Given the description of an element on the screen output the (x, y) to click on. 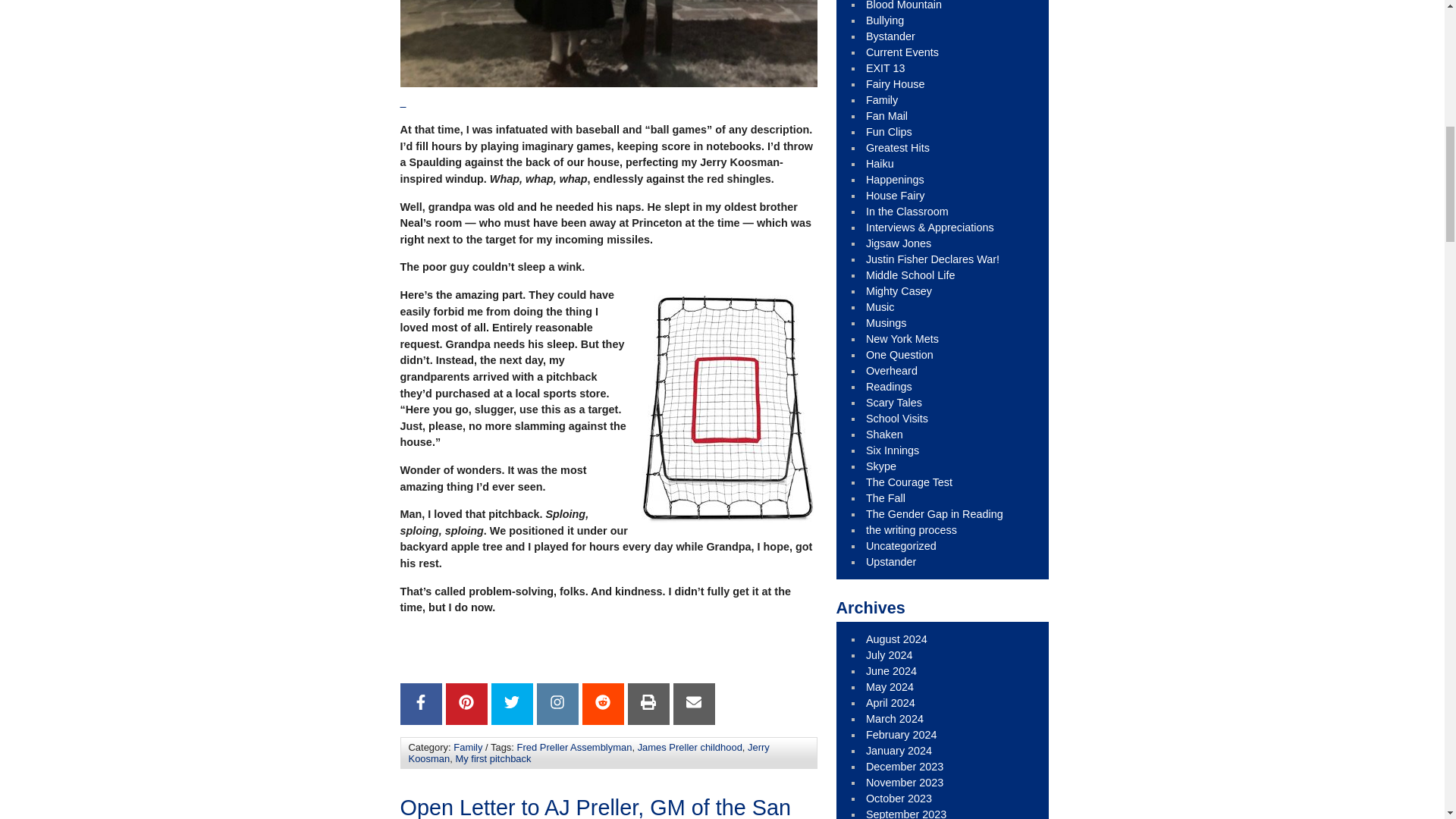
My first pitchback (492, 758)
James Preller childhood (689, 747)
Jerry Koosman (587, 753)
Family (466, 747)
Favorite old posts. (898, 147)
Fred Preller Assemblyman (573, 747)
Open Letter to AJ Preller, GM of the San Diego Padres (595, 807)
